Given the description of an element on the screen output the (x, y) to click on. 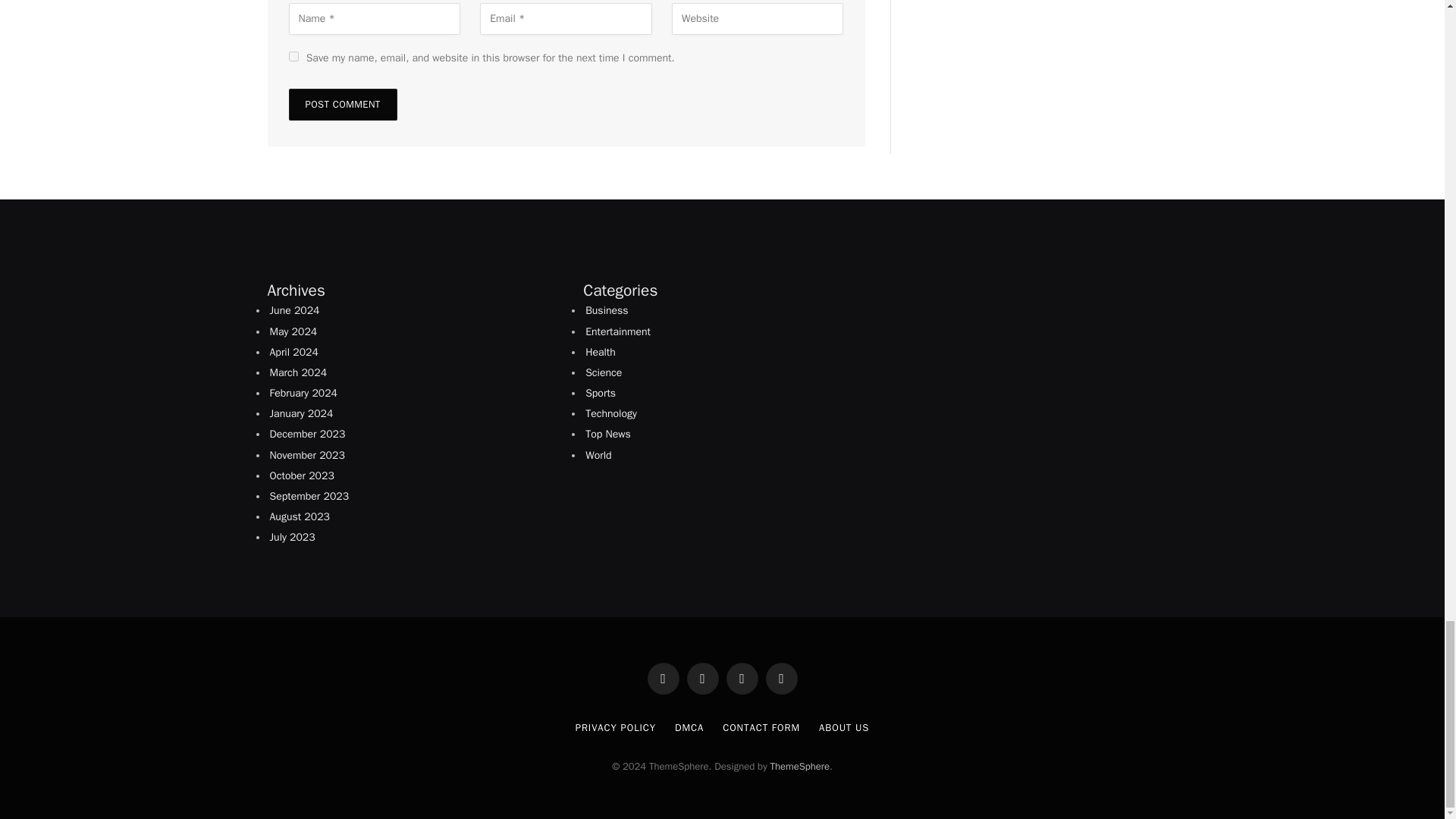
Post Comment (342, 104)
yes (293, 56)
